Given the description of an element on the screen output the (x, y) to click on. 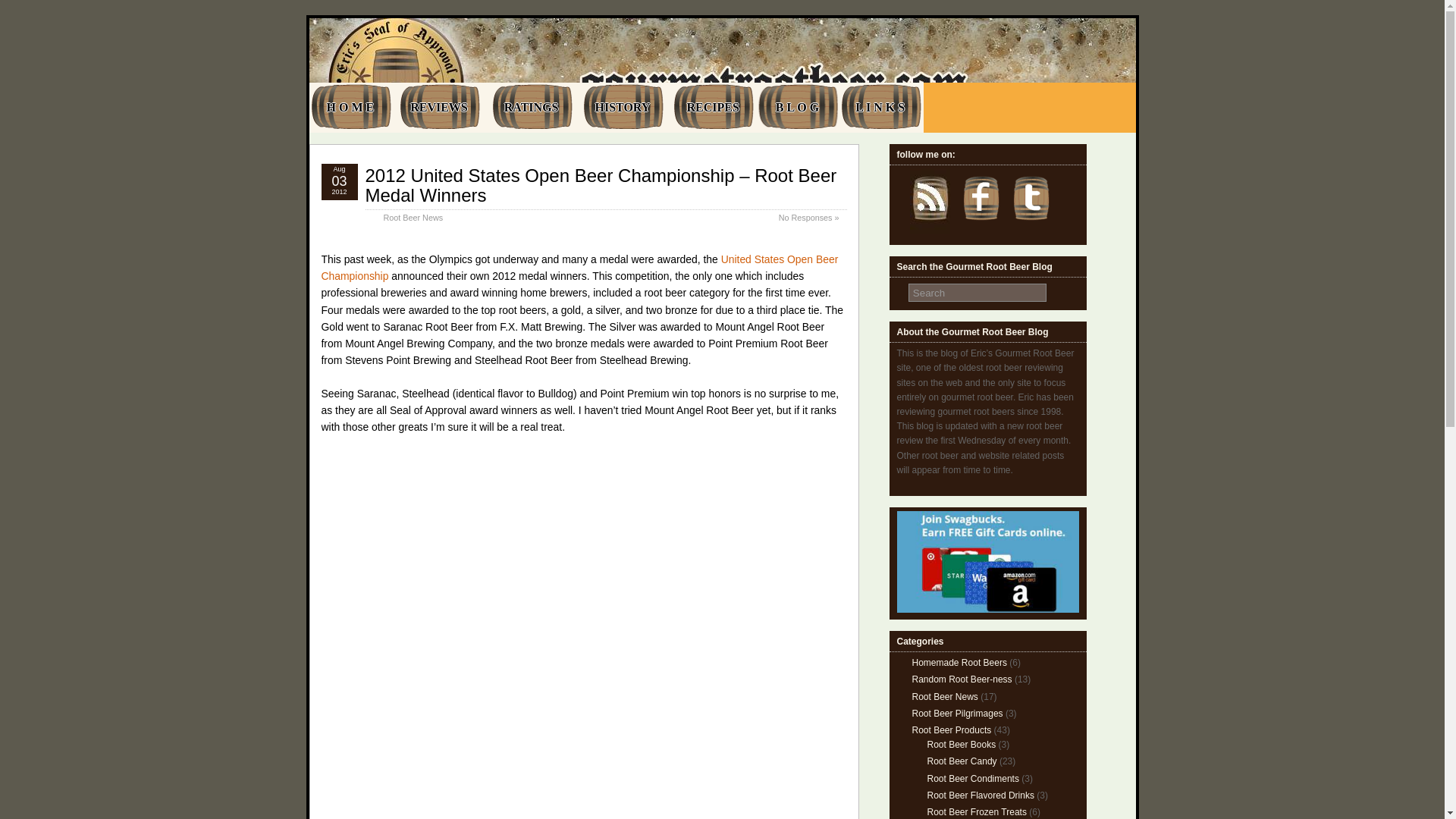
Root Beer News (943, 696)
Root Beer Products (951, 729)
Root Beer Candy (960, 760)
Root Beer Pilgrimages (957, 713)
Root Beer Flavored Drinks (979, 795)
REVIEWS (439, 107)
B L O G (798, 107)
Random Root Beer-ness (961, 679)
Search (977, 292)
H O M E (350, 107)
Root Beer News (414, 216)
Search (977, 292)
United States Open Beer Championship (579, 267)
Root Beer Books (960, 744)
L I N K S (880, 107)
